Given the description of an element on the screen output the (x, y) to click on. 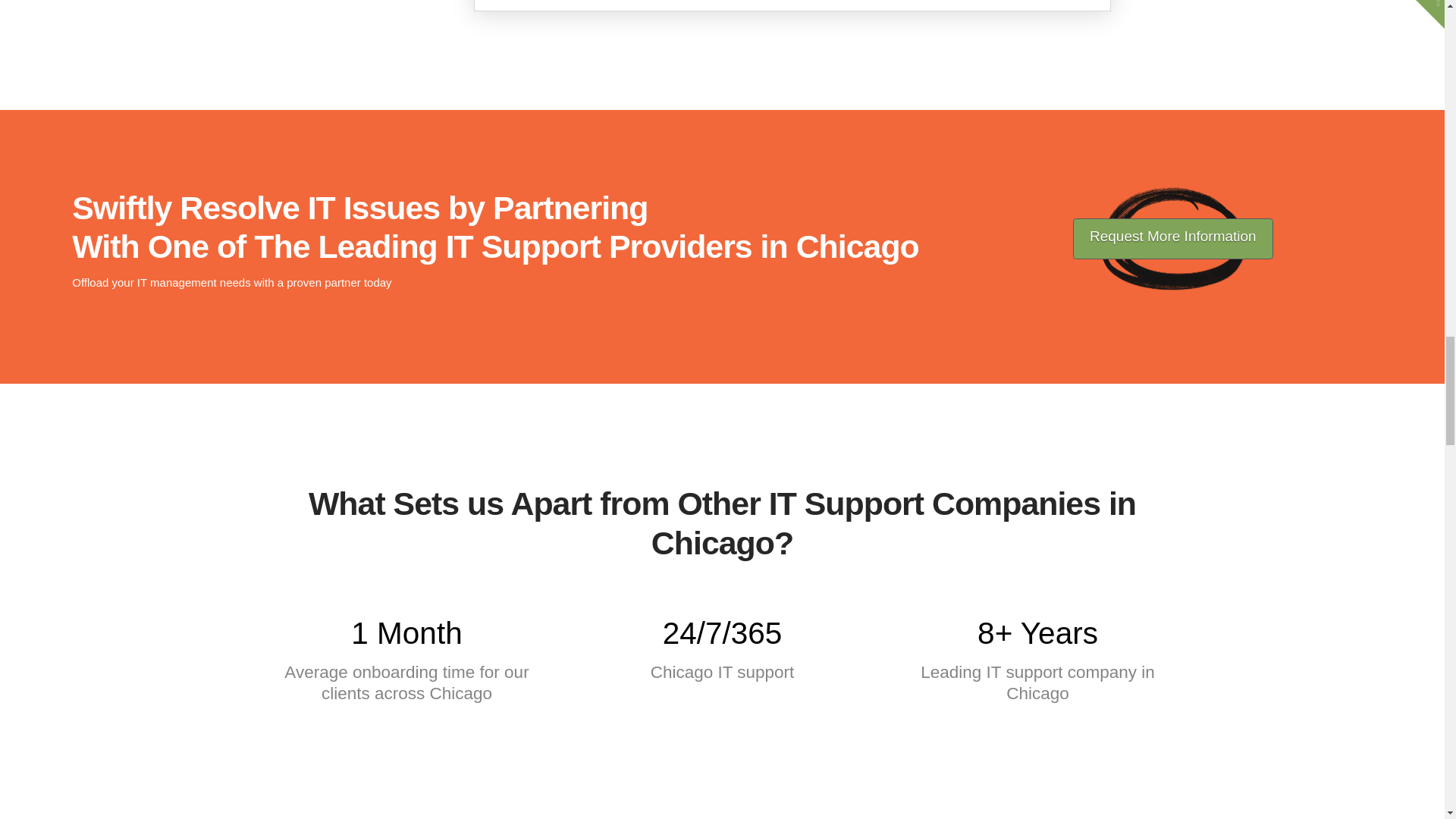
Contact The Isidore Group (1172, 238)
